Given the description of an element on the screen output the (x, y) to click on. 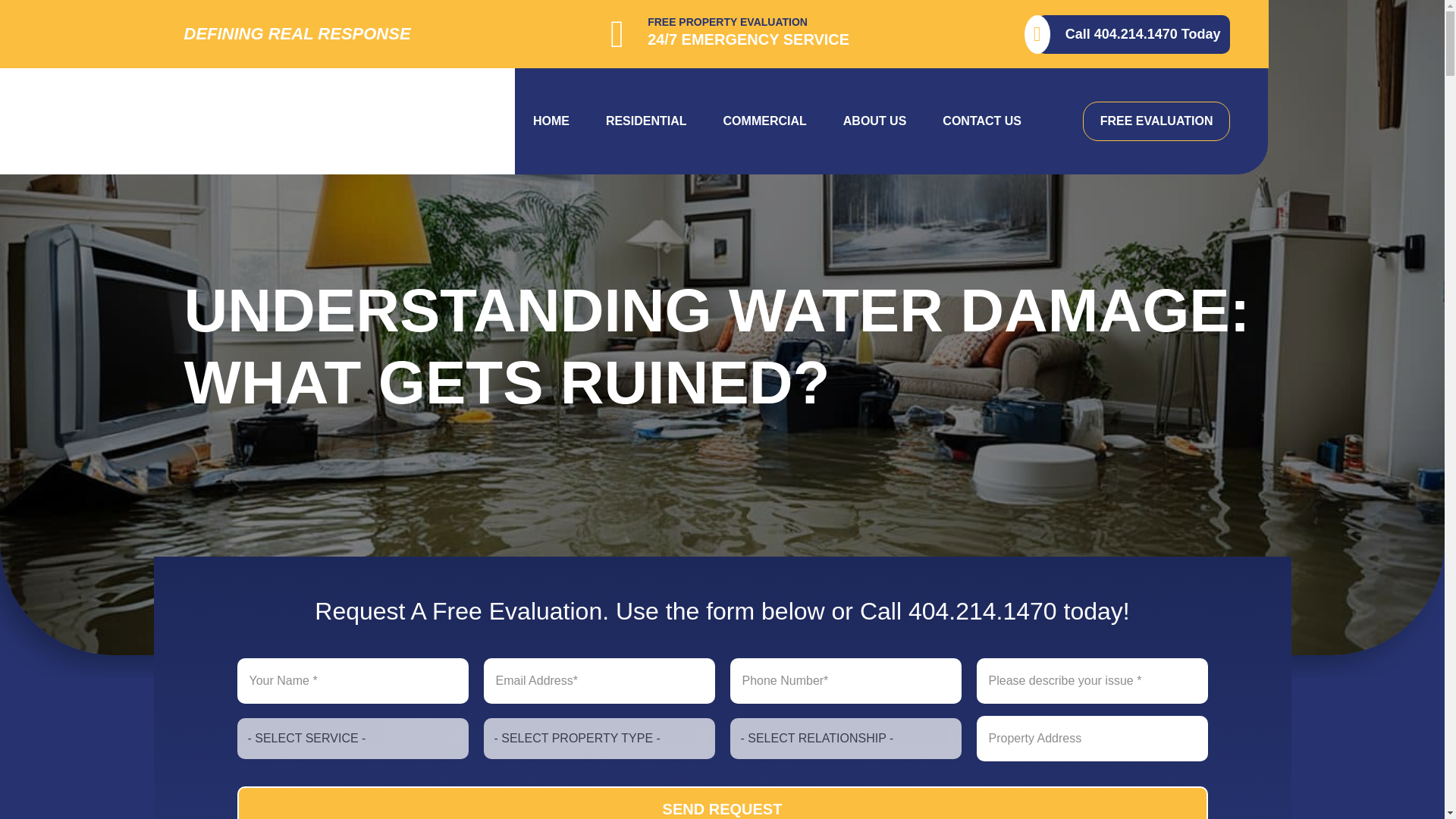
CONTACT US (981, 120)
Call 404.214.1470 Today (1133, 34)
RESIDENTIAL (646, 120)
ABOUT US (874, 120)
COMMERCIAL (764, 120)
